Given the description of an element on the screen output the (x, y) to click on. 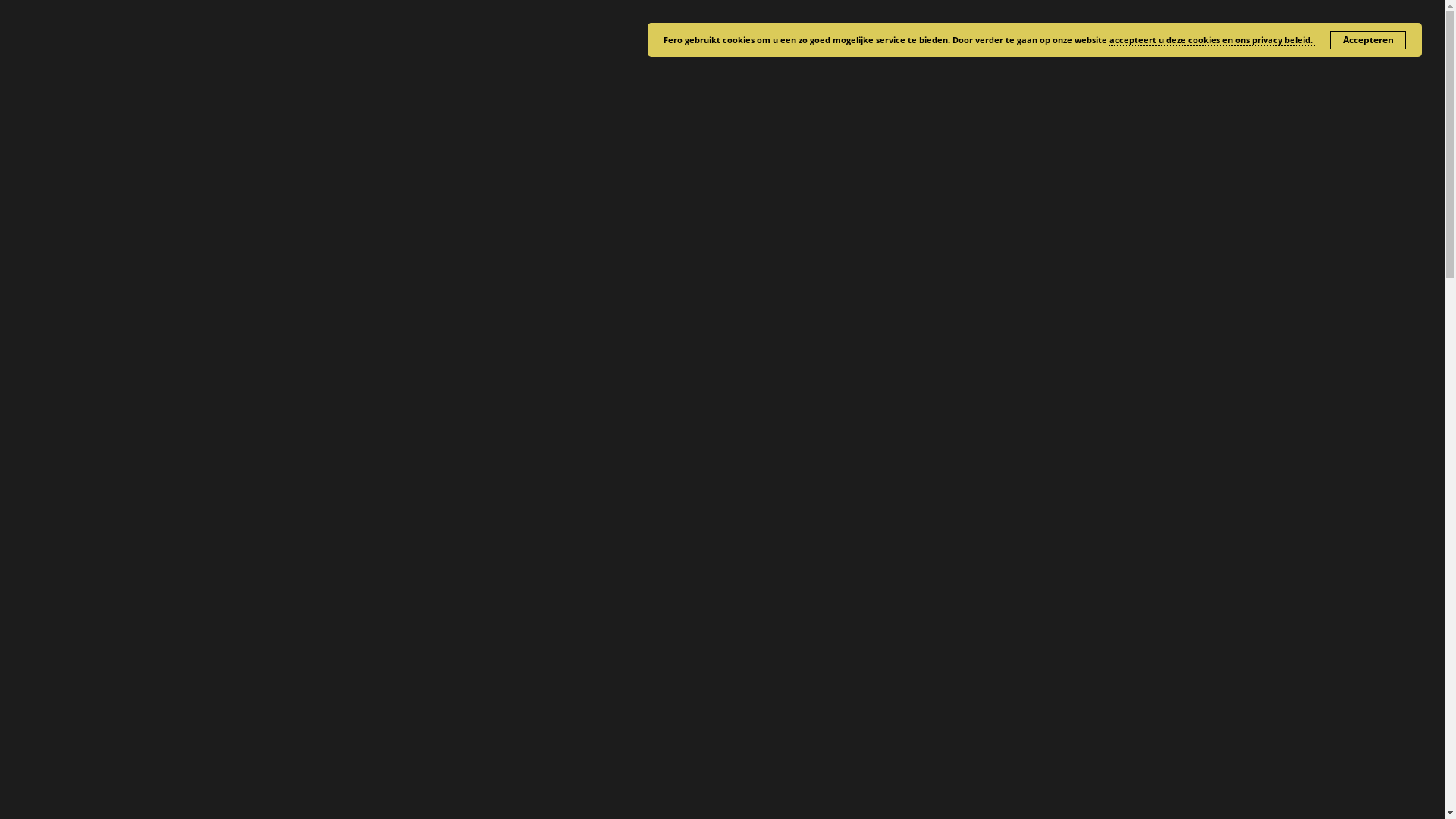
accepteert u deze cookies en ons privacy beleid. Element type: text (1211, 40)
Accepteren Element type: text (1367, 40)
